Given the description of an element on the screen output the (x, y) to click on. 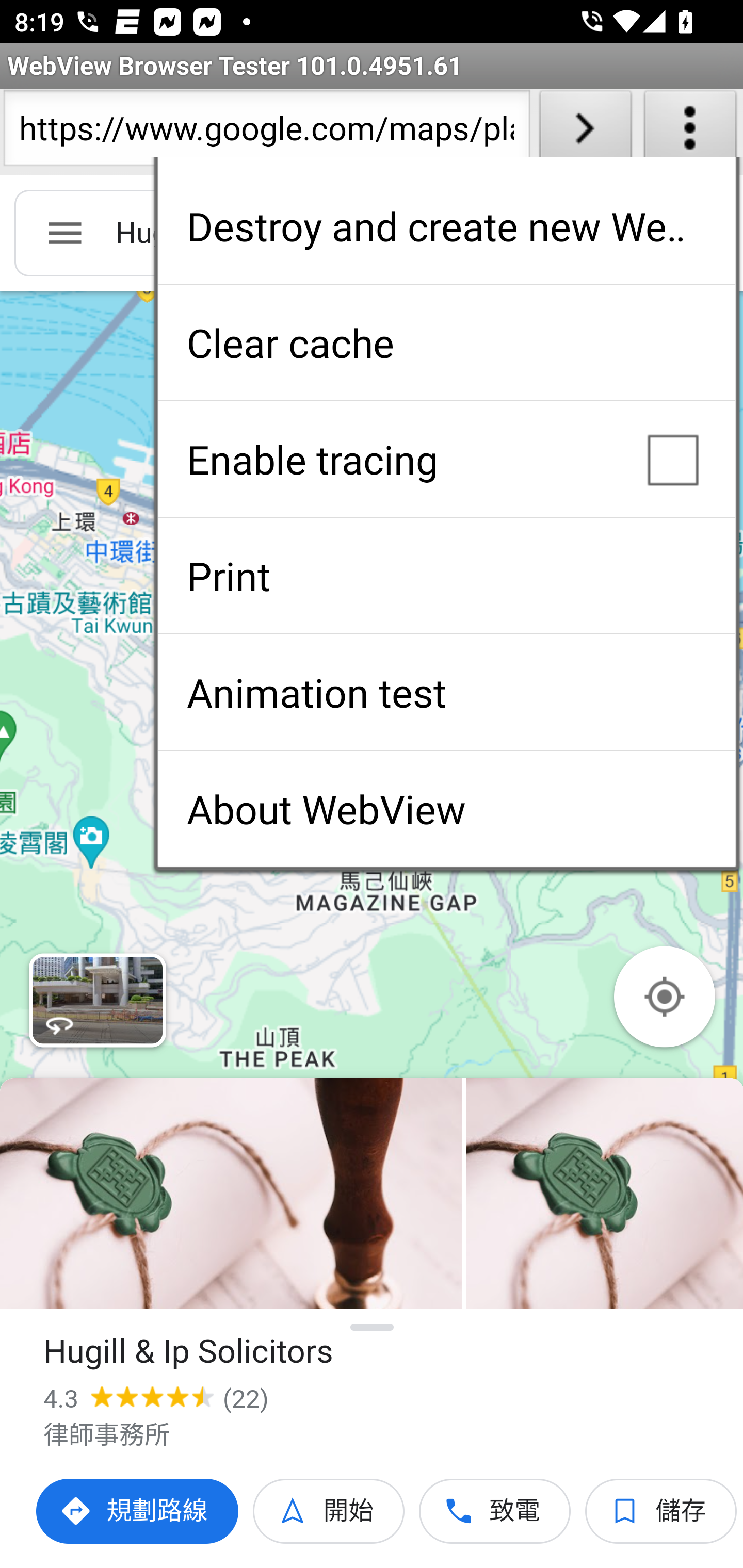
Destroy and create new WebView (446, 225)
Clear cache (446, 342)
Enable tracing (446, 459)
Print (446, 575)
Animation test (446, 692)
About WebView (446, 809)
